Given the description of an element on the screen output the (x, y) to click on. 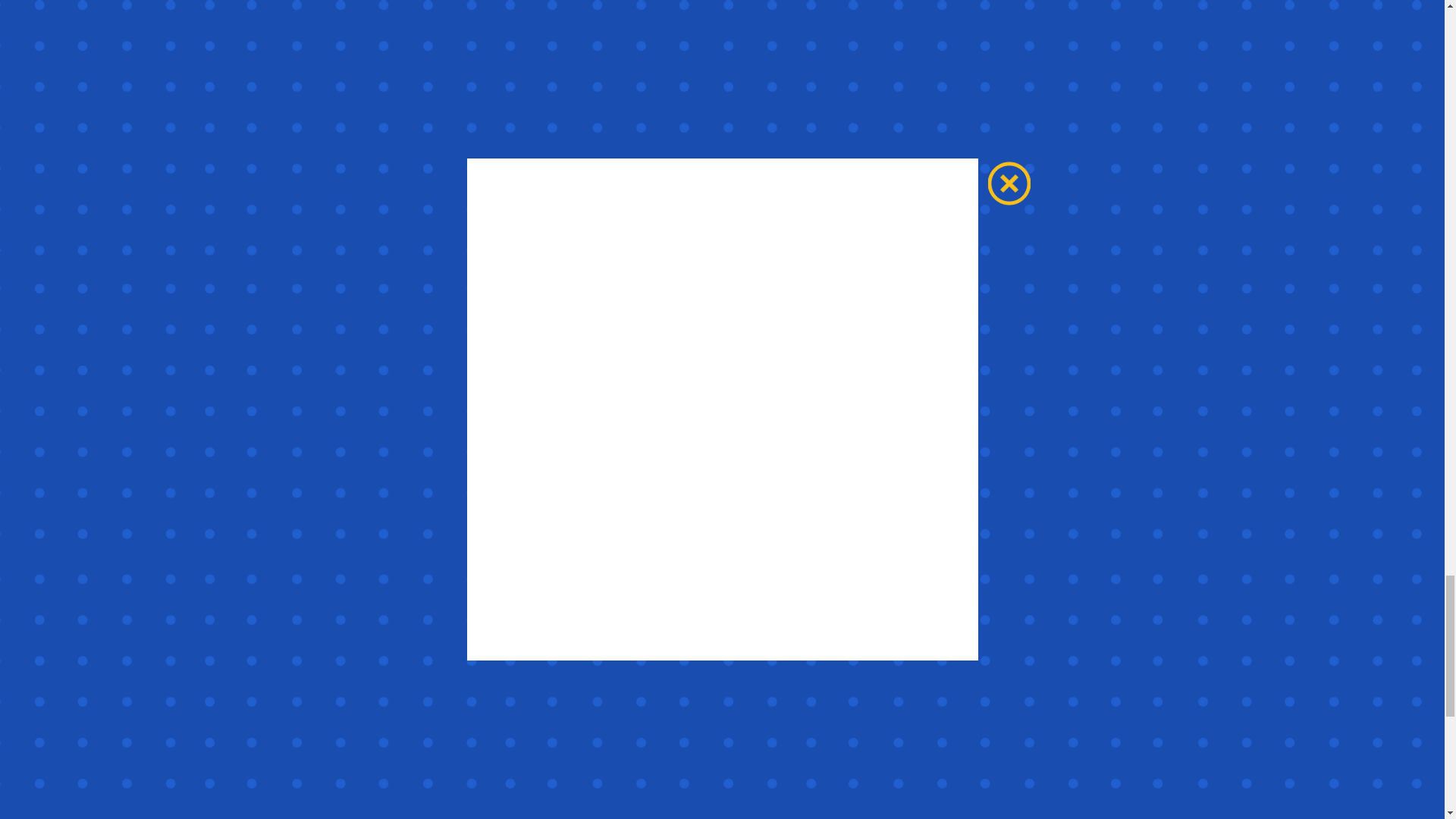
contact us (903, 655)
Post not marked as liked (995, 793)
